Given the description of an element on the screen output the (x, y) to click on. 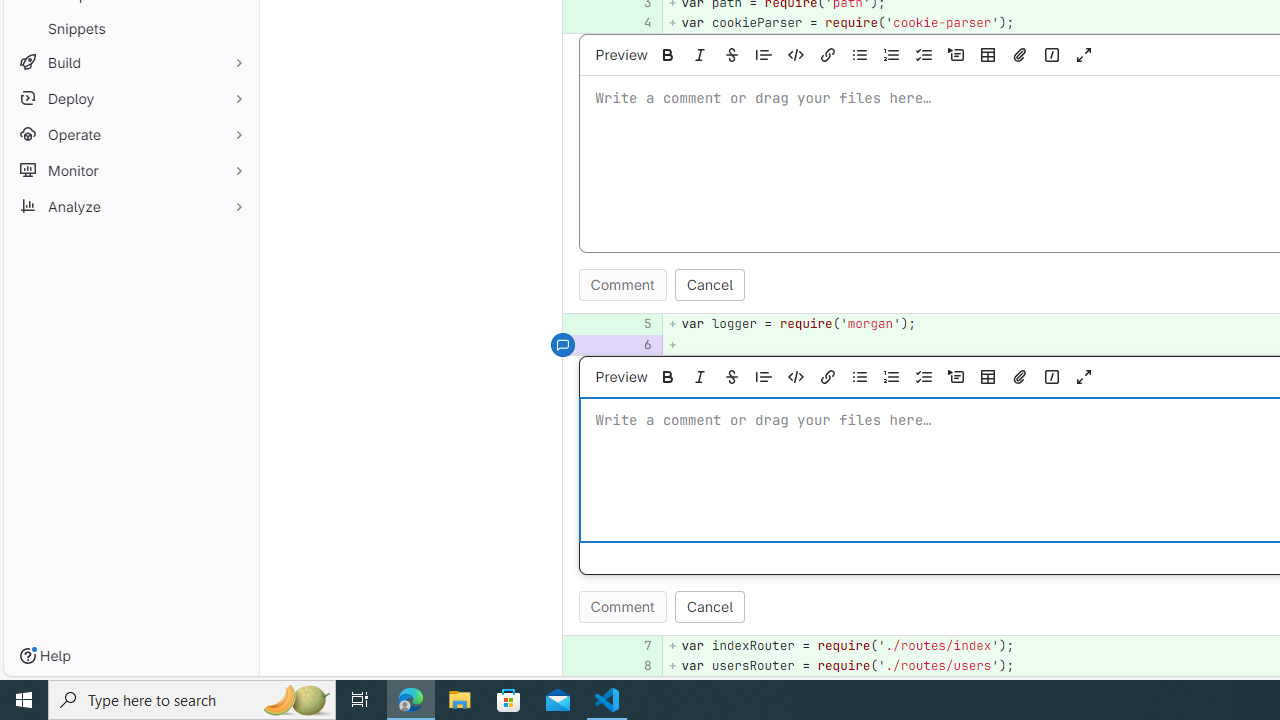
Monitor (130, 170)
8 (637, 665)
Class: s12 (562, 664)
Analyze (130, 206)
Add a bullet list (859, 376)
4 (633, 22)
Analyze (130, 206)
Add a collapsible section (955, 376)
Class: div-dropzone-icon s24 (1182, 470)
5 (637, 323)
Add a checklist (923, 376)
Class: s16 gl-icon gl-button-icon  (1083, 376)
Build (130, 62)
Insert a quote (763, 376)
